Given the description of an element on the screen output the (x, y) to click on. 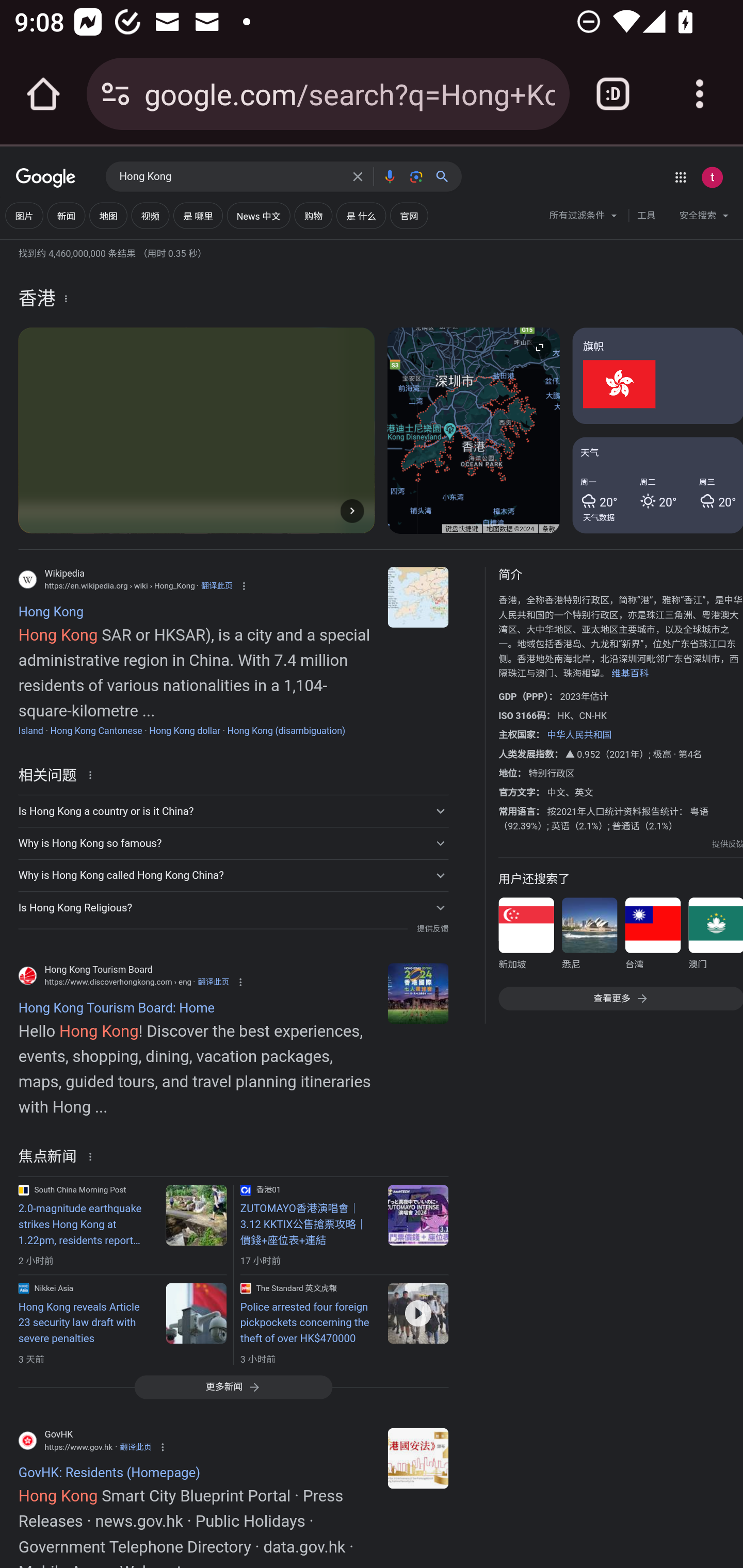
Open the home page (43, 93)
Connection is secure (115, 93)
Switch or close tabs (612, 93)
Customize and control Google Chrome (699, 93)
清除 (357, 176)
按语音搜索 (389, 176)
按图搜索 (415, 176)
搜索 (446, 176)
Google 应用 (680, 176)
Google 账号： test appium (testappium002@gmail.com) (712, 176)
Google (45, 178)
Hong Kong (229, 177)
新闻 (65, 215)
地图 (107, 215)
视频 (149, 215)
添加“是 哪里” 是 哪里 (197, 215)
添加“News 中文” News 中文 (258, 215)
购物 (313, 215)
添加“是 什么” 是 什么 (360, 215)
添加“官网” 官网 (408, 215)
所有过滤条件 (583, 217)
工具 (646, 215)
安全搜索 (703, 217)
更多选项 (65, 298)
旗帜的图片。 (657, 375)
展开地图 (539, 346)
天气 周一 高温 20 度 周二 高温 20 度 周三 高温 20 度 (657, 484)
下一张图片 (352, 510)
天气数据 (599, 516)
Hong_Kong (417, 597)
翻译此页 (216, 585)
维基百科 (629, 672)
Island (30, 730)
Hong Kong Cantonese (95, 730)
Hong Kong dollar (184, 730)
Hong Kong (disambiguation) (285, 730)
中华人民共和国 (579, 734)
关于这条结果的详细信息 (93, 773)
Is Hong Kong a country or is it China? (232, 810)
Why is Hong Kong so famous? (232, 843)
提供反馈 (727, 843)
Why is Hong Kong called Hong Kong China? (232, 875)
Is Hong Kong Religious? (232, 906)
新加坡 (526, 936)
悉尼 (588, 936)
台湾 (652, 936)
澳门 (715, 936)
提供反馈 (432, 927)
index (417, 992)
翻译此页 (213, 981)
查看更多 查看更多 查看更多 (620, 997)
关于这条结果的详细信息 (93, 1156)
更多新闻 (232, 1386)
www.gov (417, 1457)
翻译此页 (135, 1446)
